Given the description of an element on the screen output the (x, y) to click on. 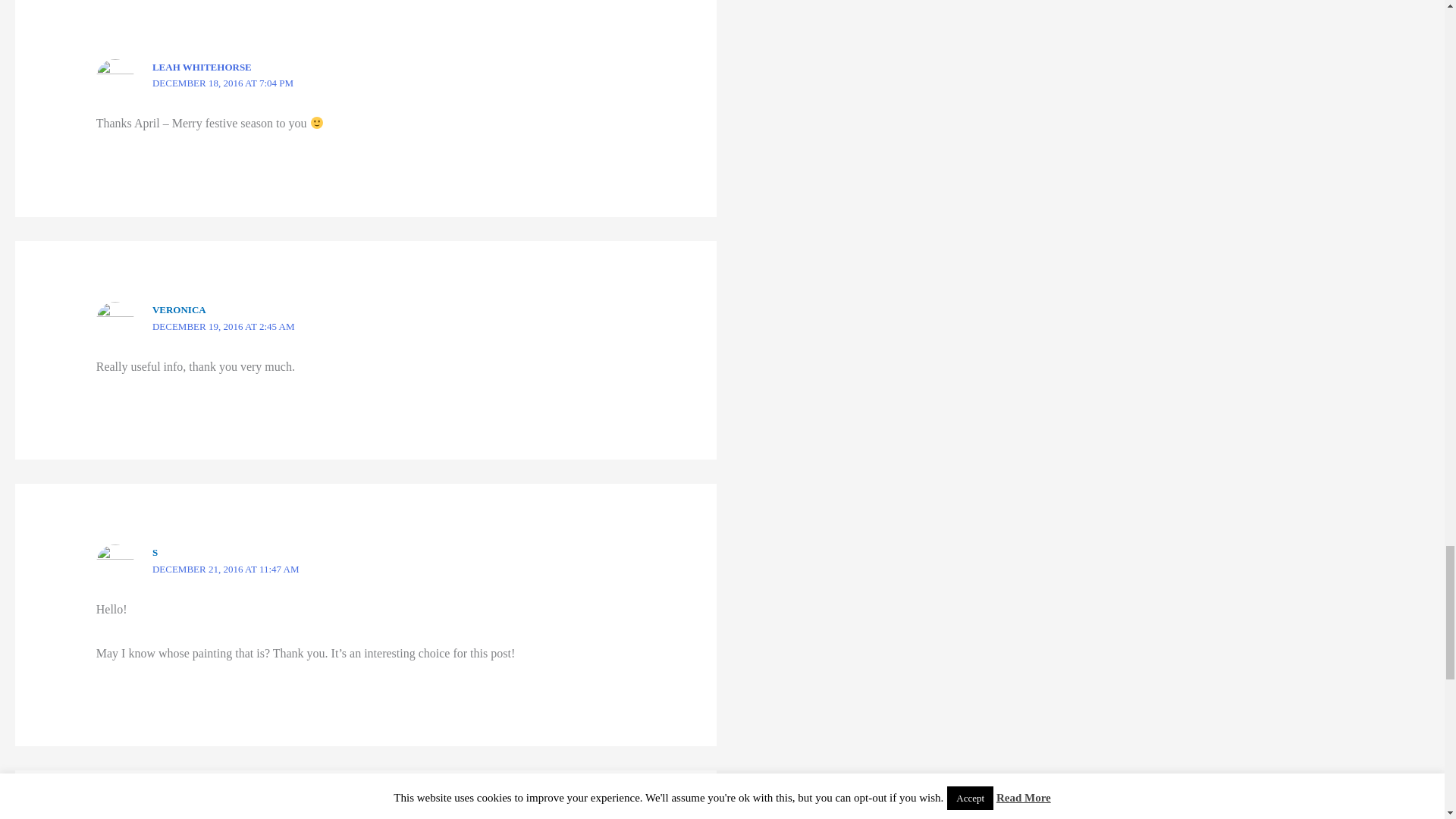
DECEMBER 18, 2016 AT 7:04 PM (223, 82)
LEAH WHITEHORSE (201, 66)
DECEMBER 21, 2016 AT 11:47 AM (225, 568)
DECEMBER 19, 2016 AT 2:45 AM (223, 326)
